Given the description of an element on the screen output the (x, y) to click on. 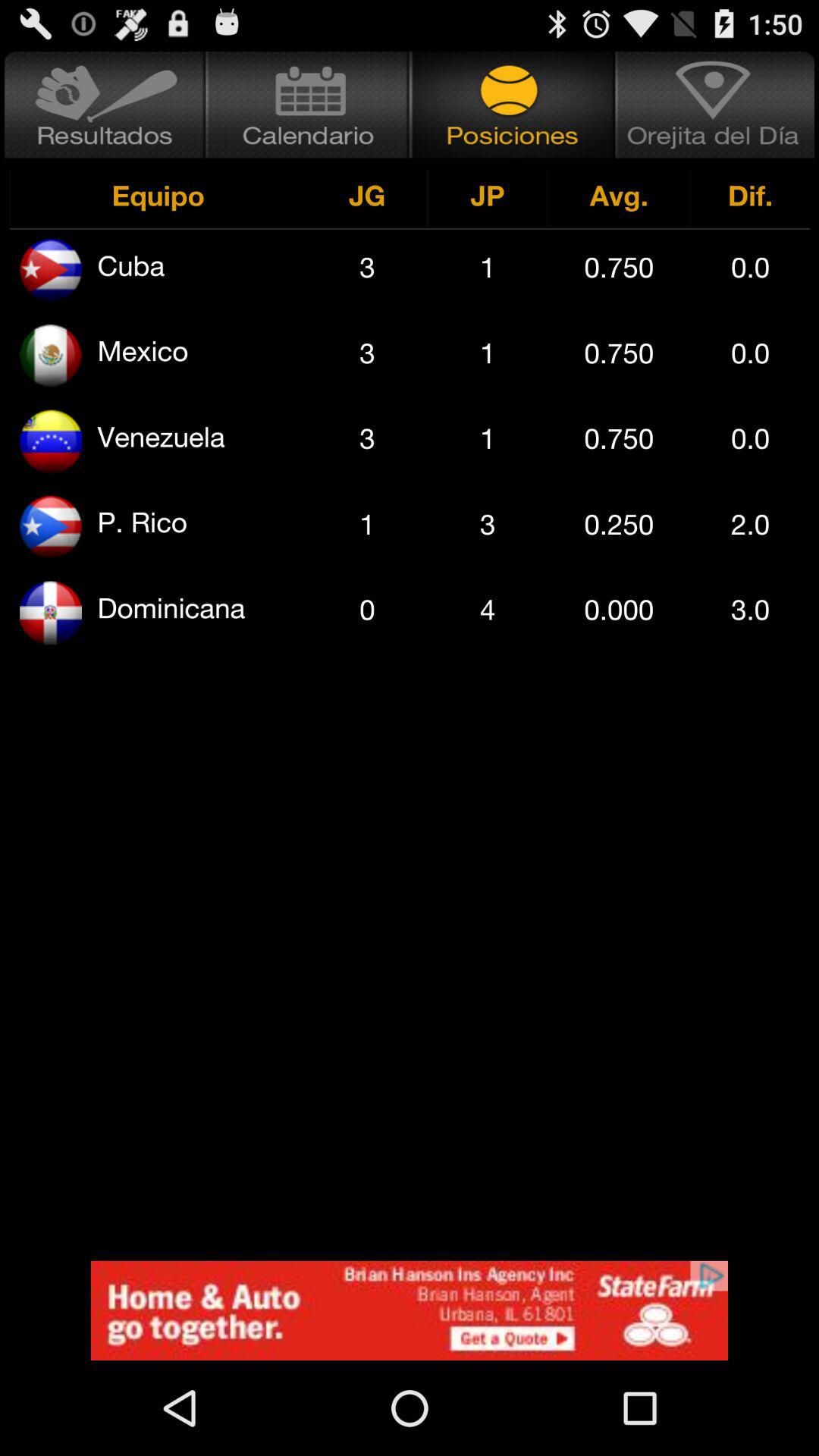
show positions (512, 104)
